Given the description of an element on the screen output the (x, y) to click on. 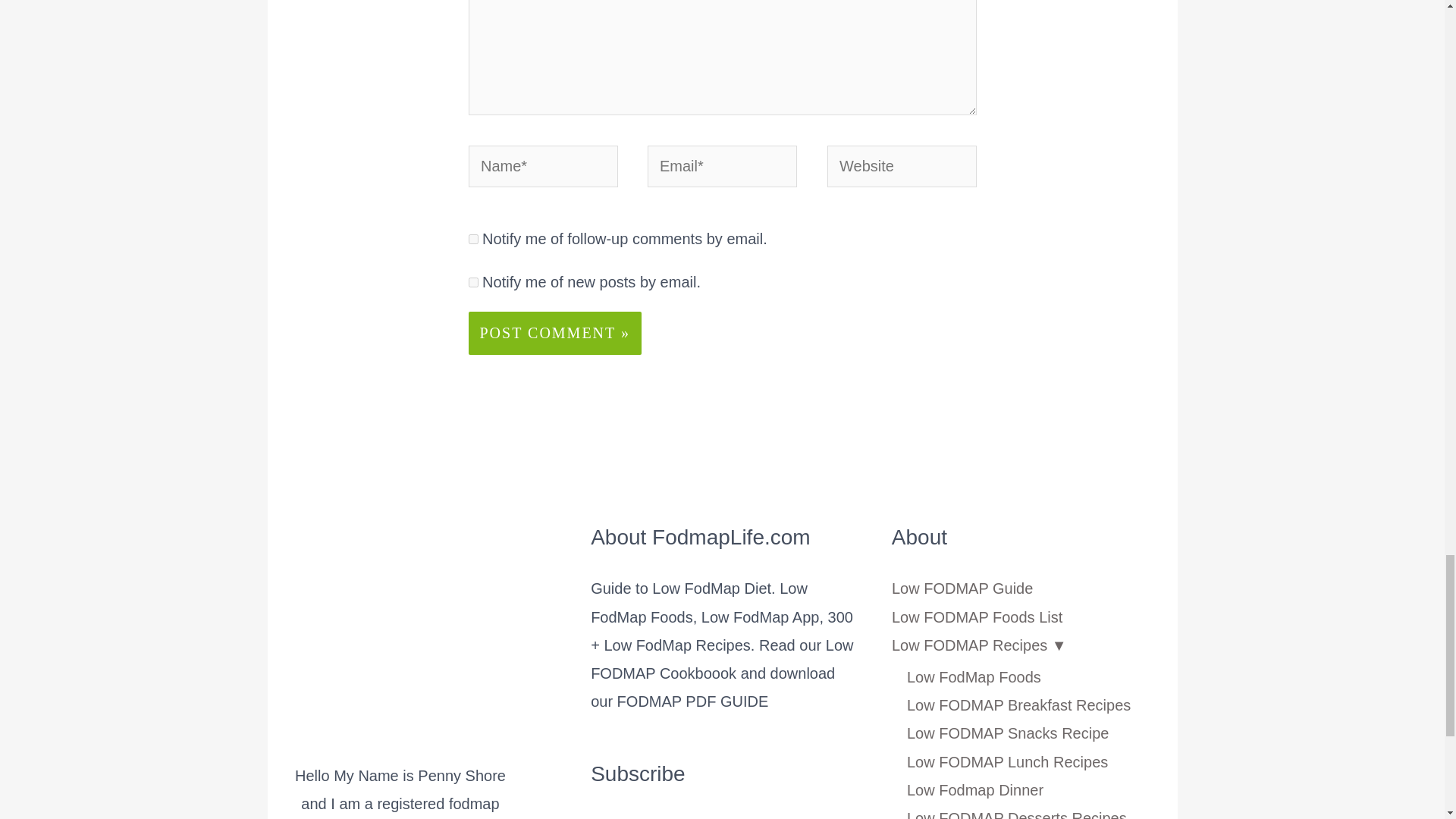
subscribe (473, 282)
subscribe (473, 239)
